Given the description of an element on the screen output the (x, y) to click on. 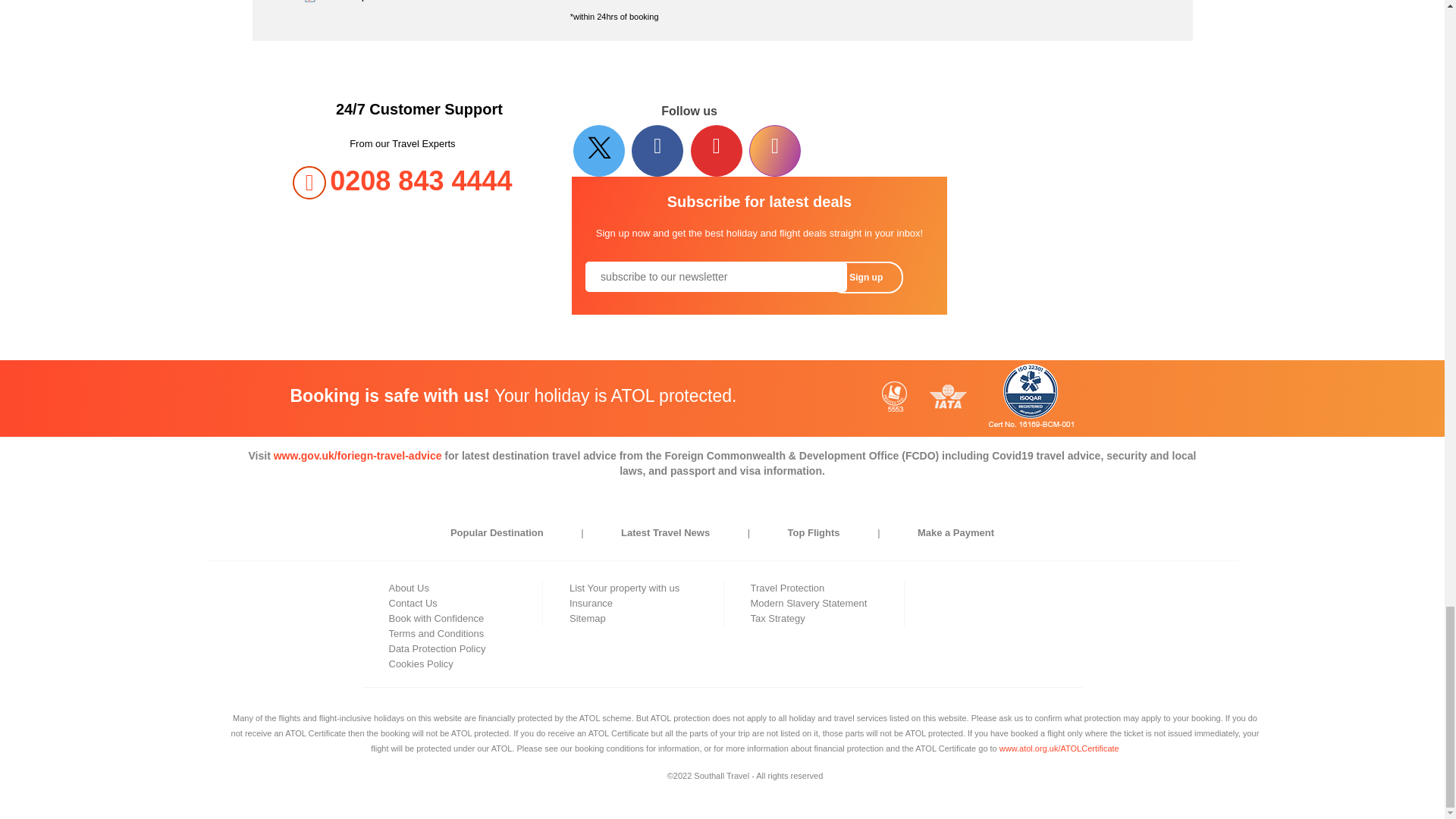
Sign up (865, 277)
